Given the description of an element on the screen output the (x, y) to click on. 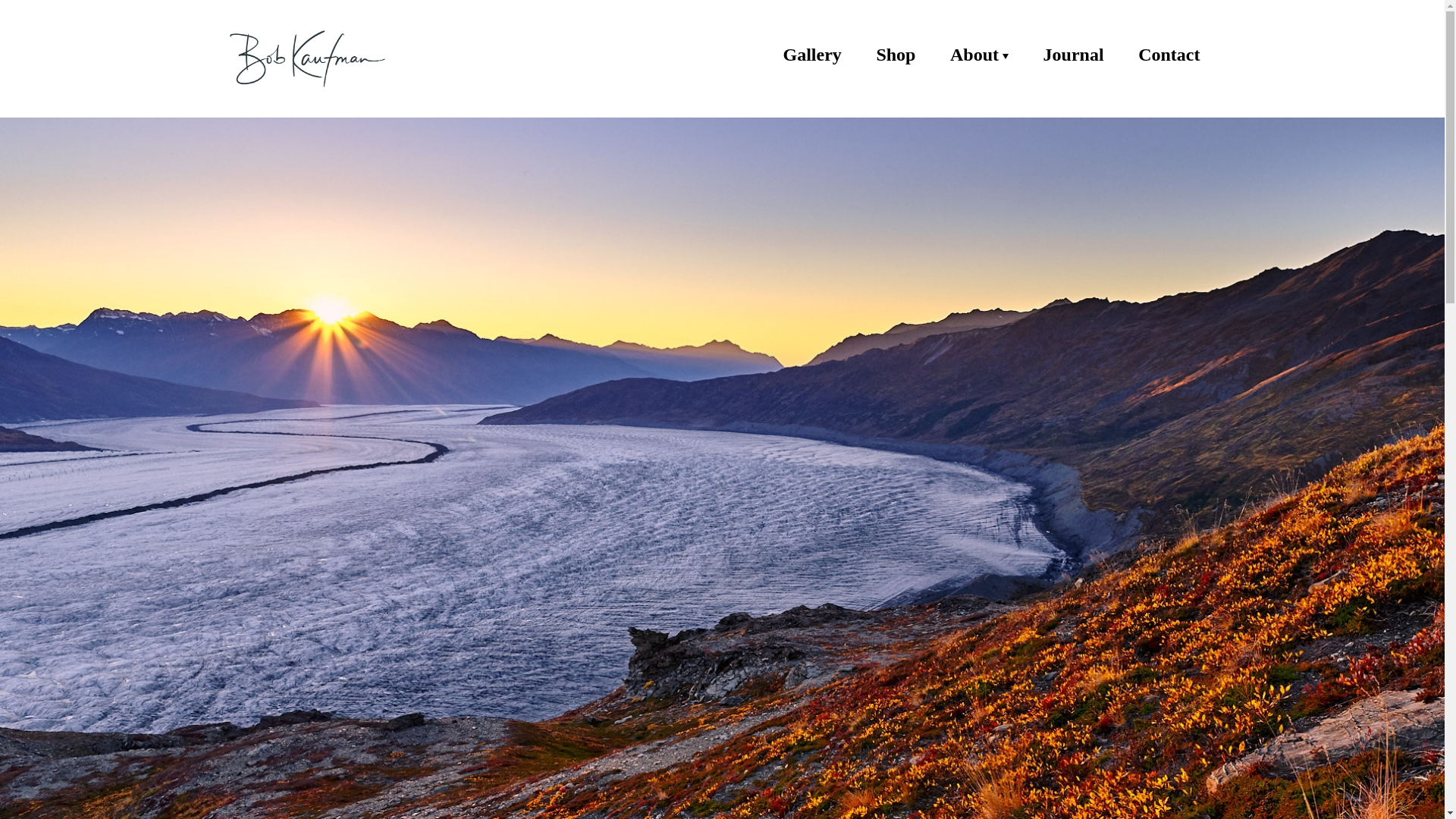
Journal (1073, 54)
Shop (895, 54)
Gallery (812, 54)
About (979, 54)
Contact (1168, 54)
